Given the description of an element on the screen output the (x, y) to click on. 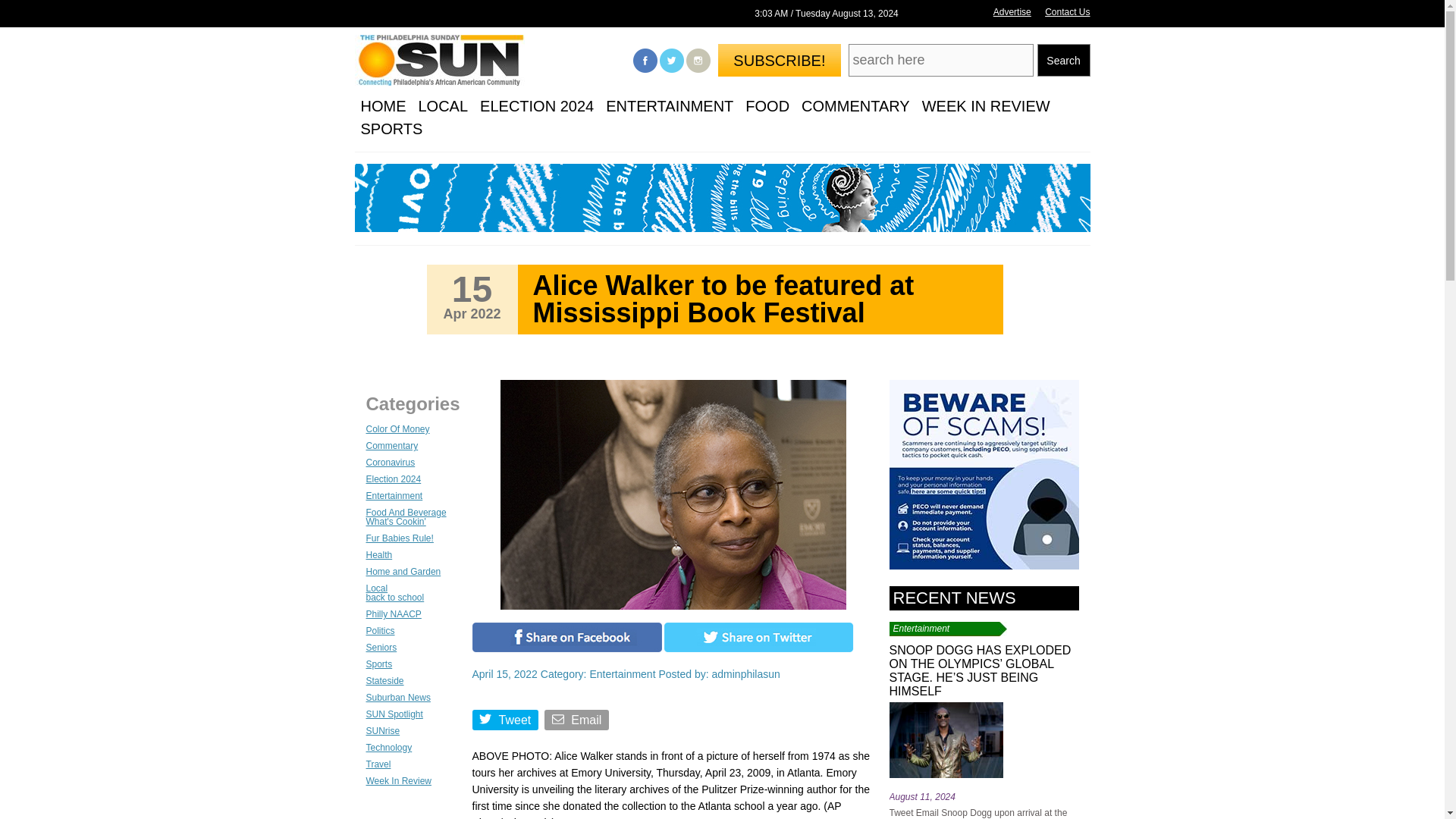
Entertainment (622, 674)
Share on Facebook (566, 648)
Posts by adminphilasun (744, 674)
facebook (645, 60)
ELECTION 2024 (536, 106)
Search (1063, 60)
Share on Twitter (758, 648)
Contact Us (1067, 11)
HOME (383, 106)
Advertise (1011, 11)
